Given the description of an element on the screen output the (x, y) to click on. 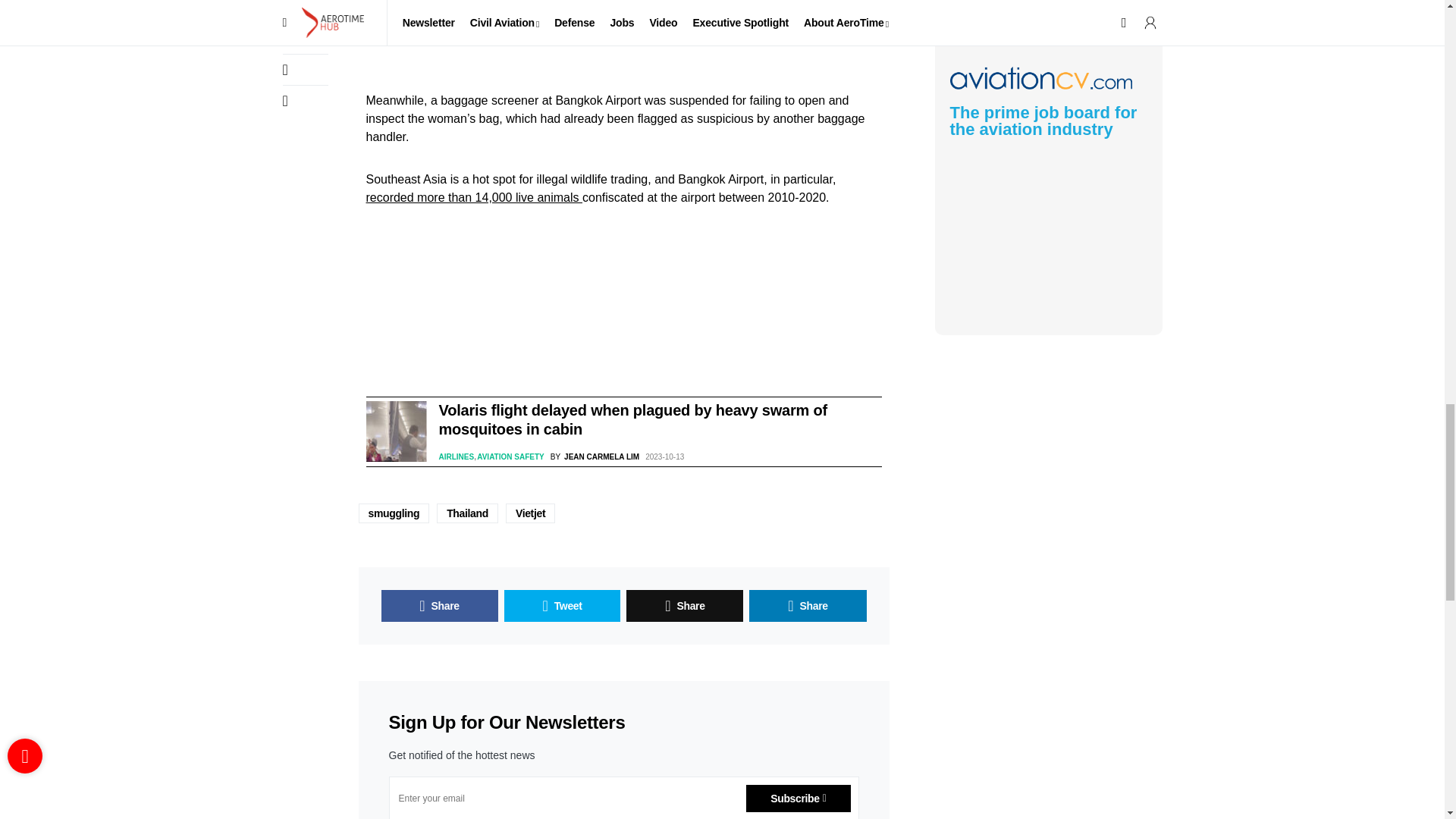
View all posts by Jean Carmela Lim (594, 456)
